Given the description of an element on the screen output the (x, y) to click on. 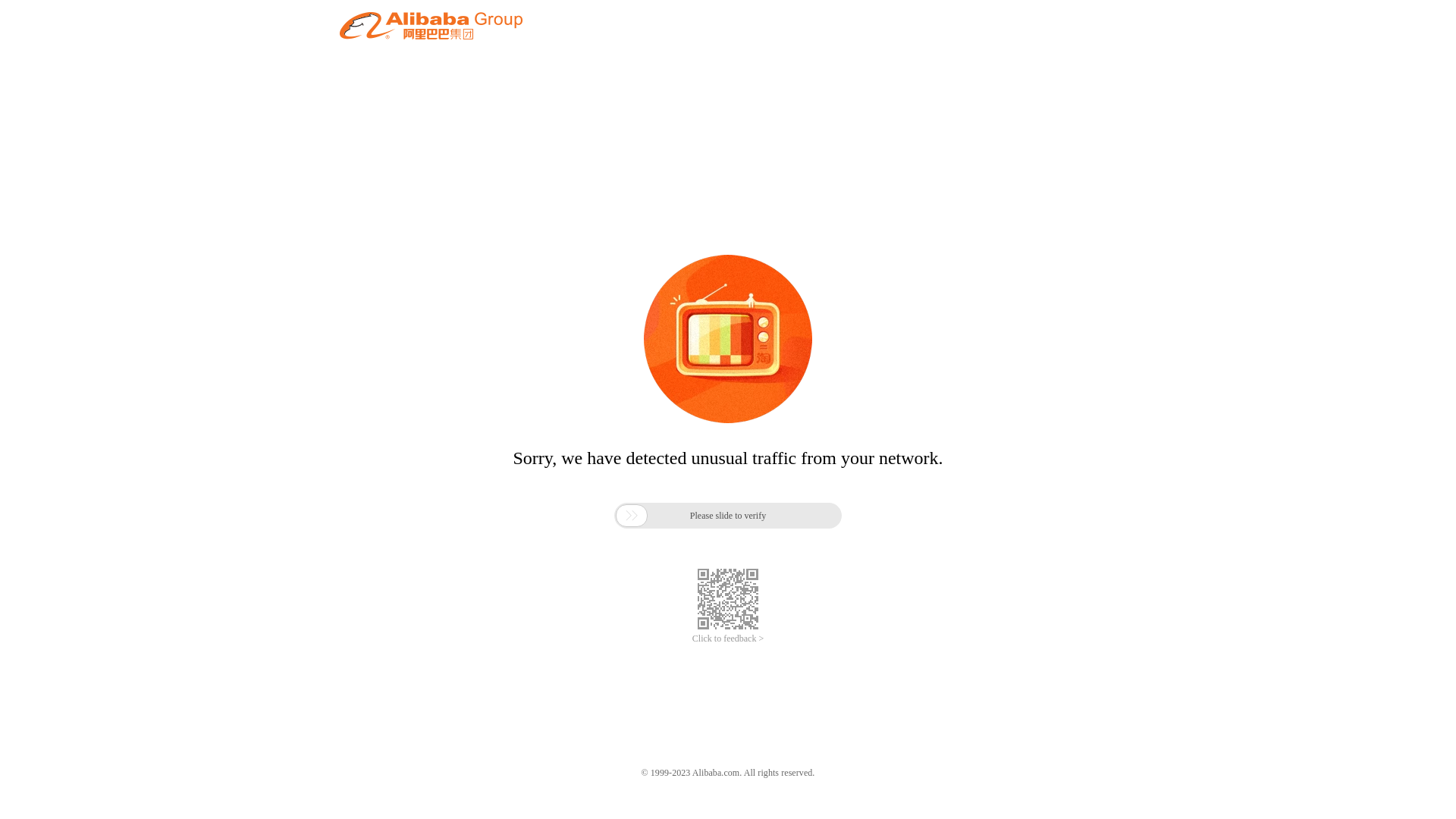
Click to feedback > Element type: text (727, 638)
